Given the description of an element on the screen output the (x, y) to click on. 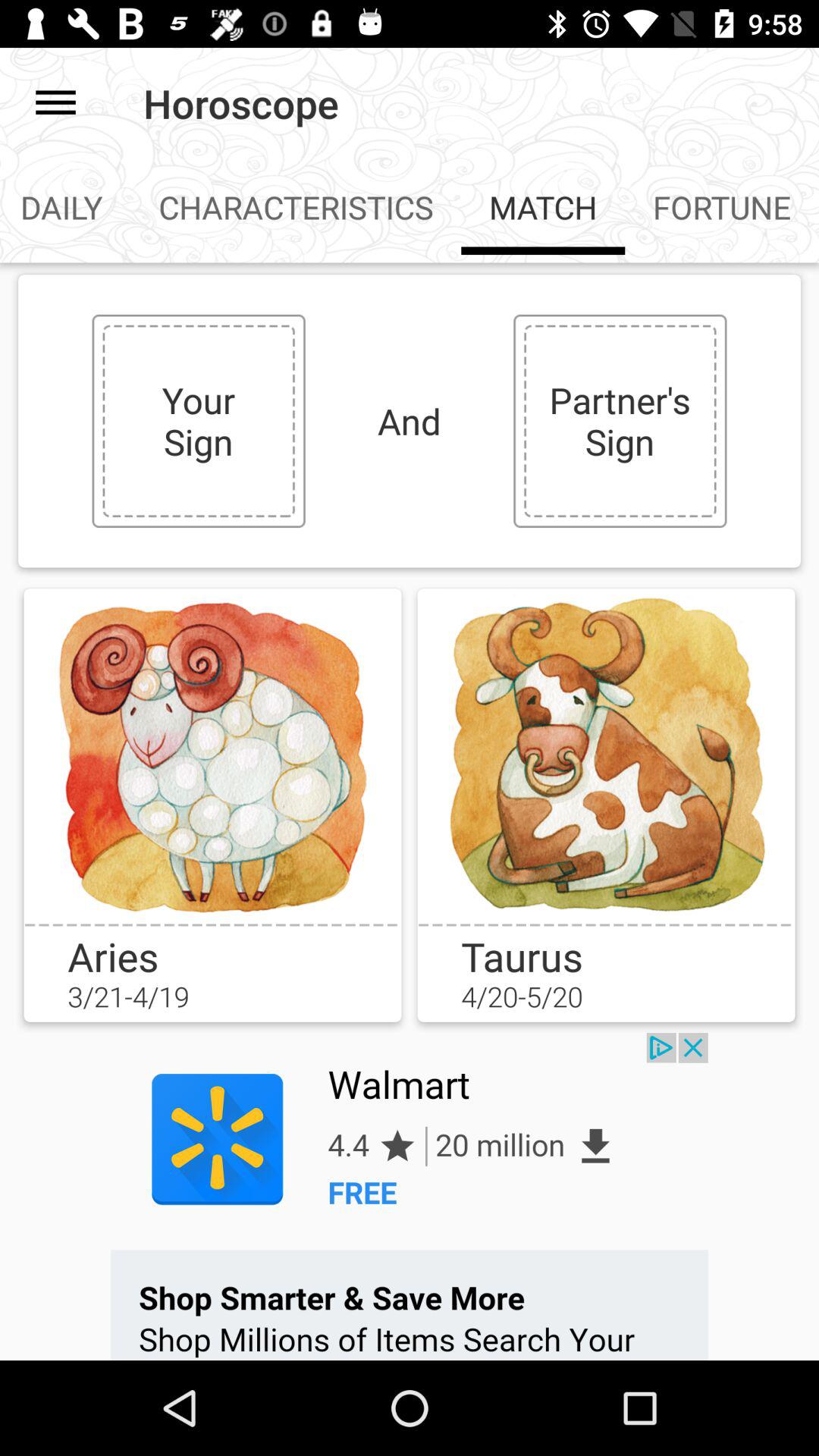
advertisement link (409, 1196)
